Given the description of an element on the screen output the (x, y) to click on. 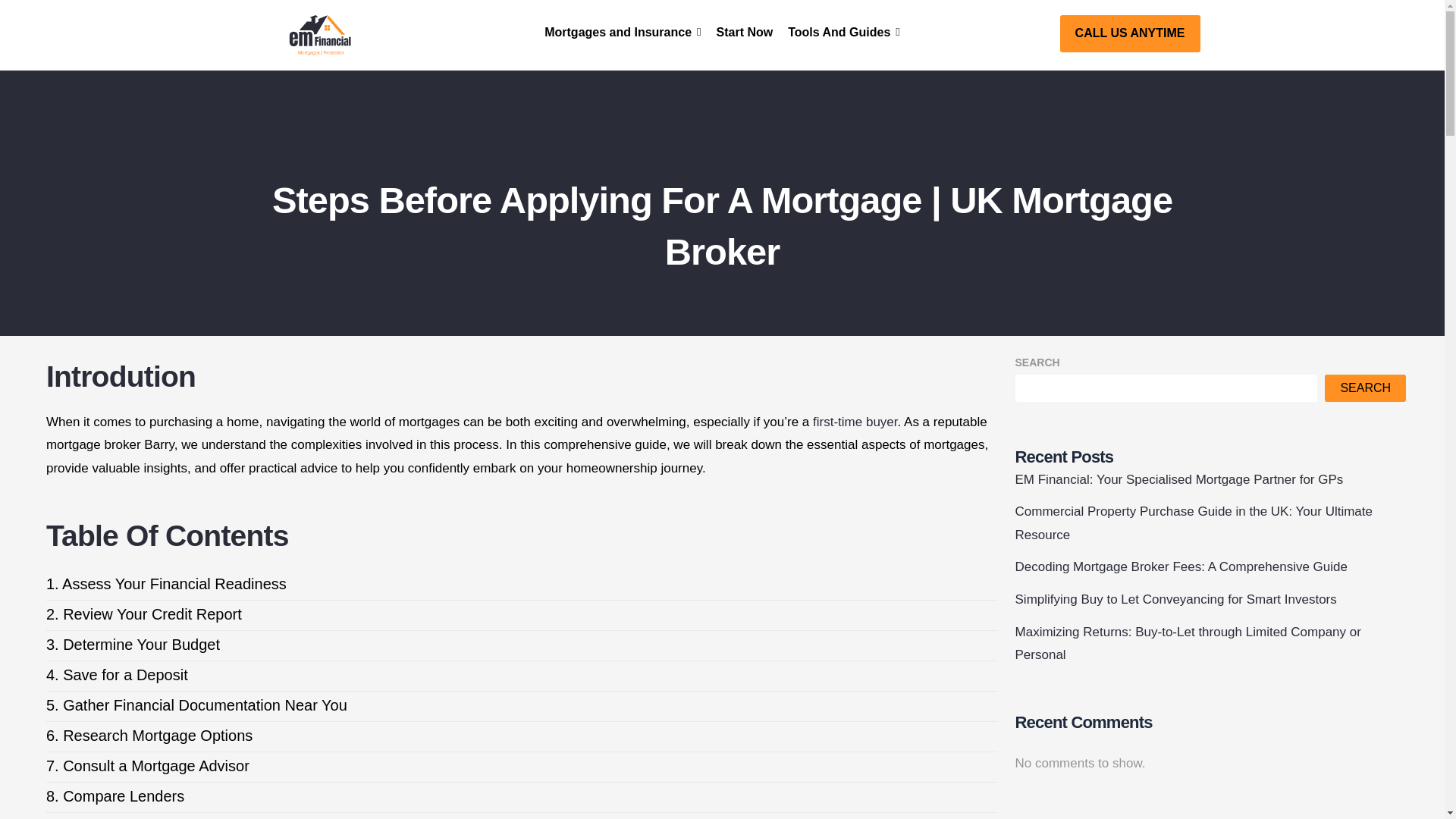
Mortgages and Insurance (622, 32)
Tools And Guides (843, 32)
Start Now (744, 32)
